Given the description of an element on the screen output the (x, y) to click on. 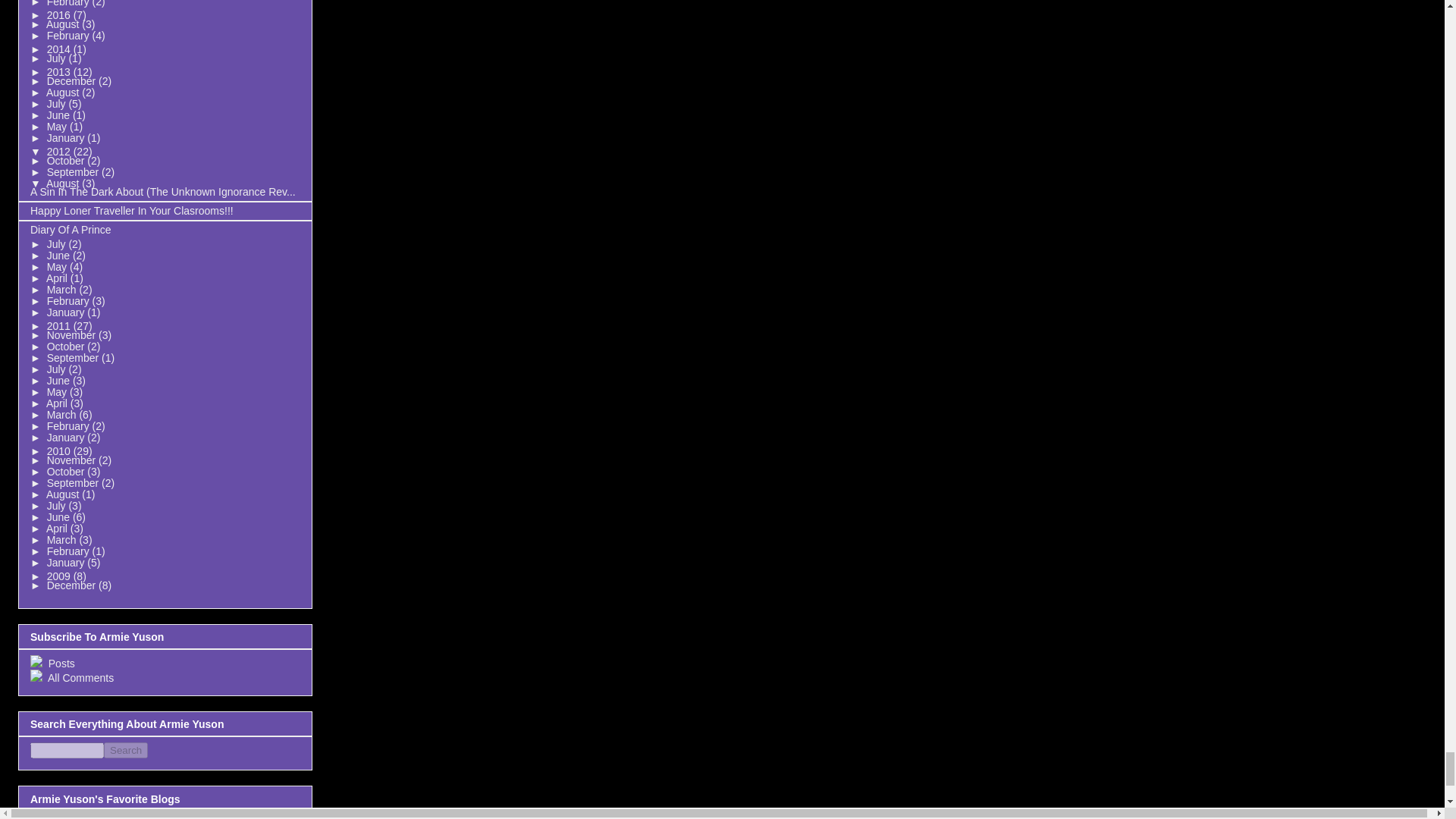
Search (125, 750)
Search (125, 750)
